Given the description of an element on the screen output the (x, y) to click on. 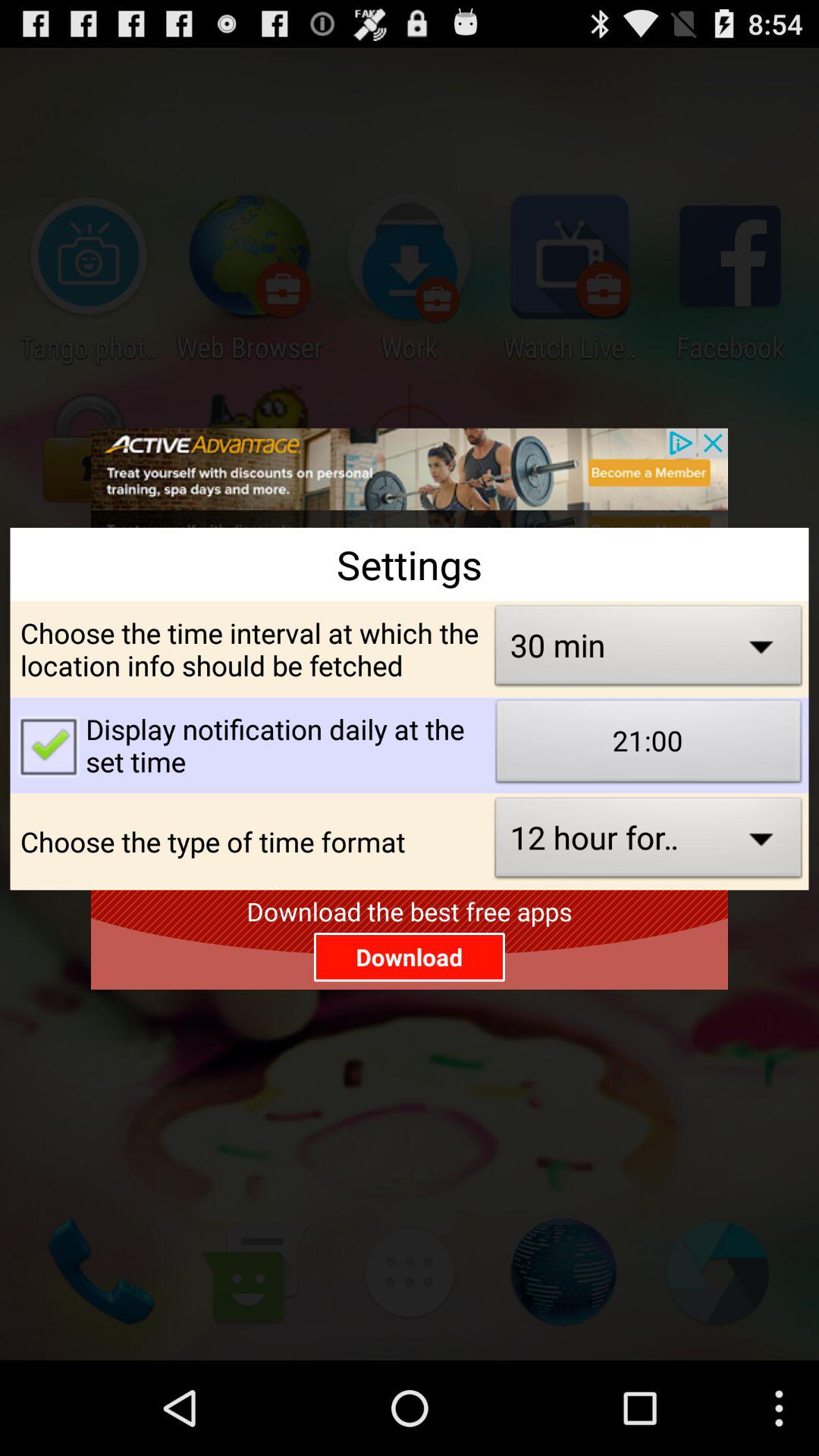
watch advertisement (409, 477)
